Given the description of an element on the screen output the (x, y) to click on. 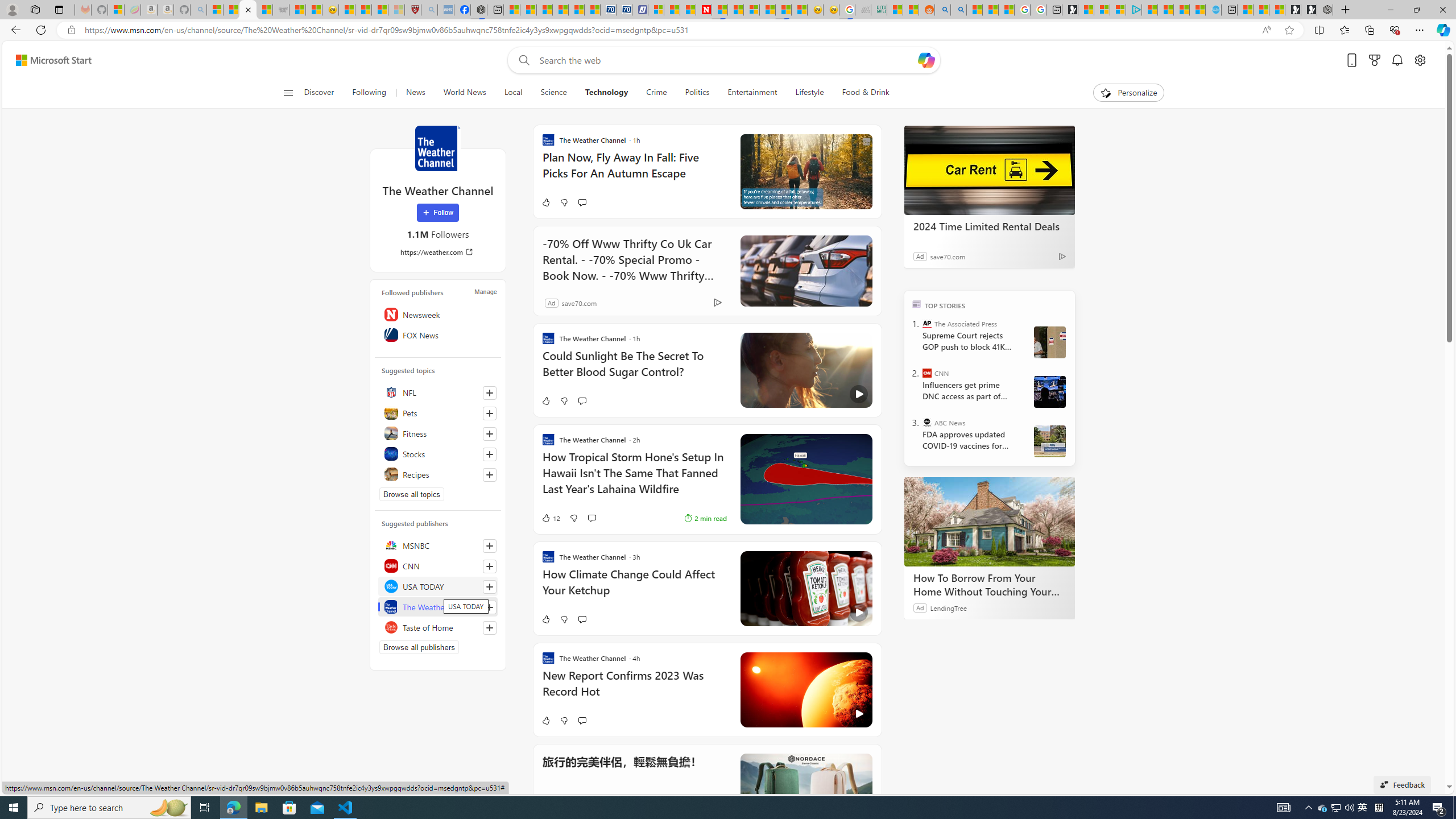
New Report Confirms 2023 Was Record Hot (633, 689)
Taste of Home (437, 627)
12 Popular Science Lies that Must be Corrected - Sleeping (395, 9)
save70.com (579, 302)
12 Like (549, 517)
